Given the description of an element on the screen output the (x, y) to click on. 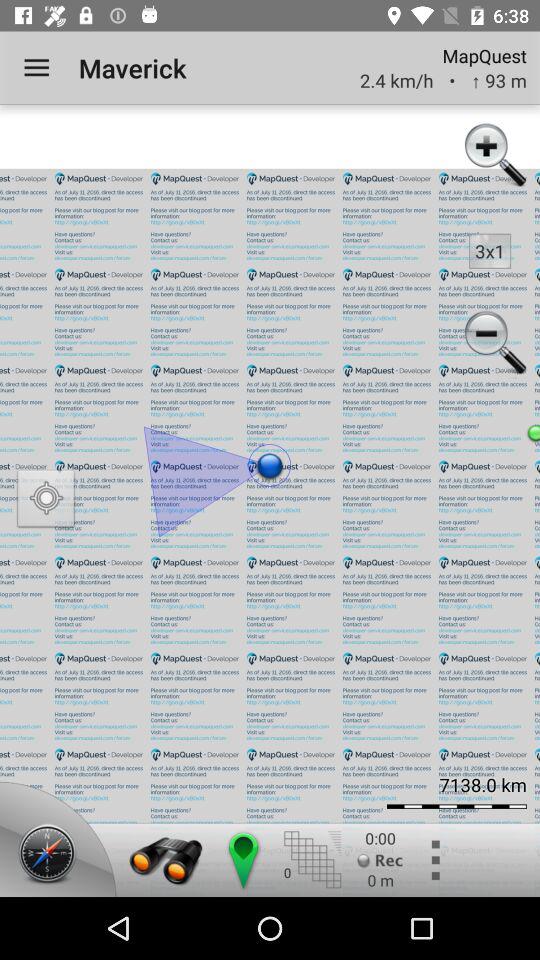
open the item to the left of the maverick item (36, 68)
